Given the description of an element on the screen output the (x, y) to click on. 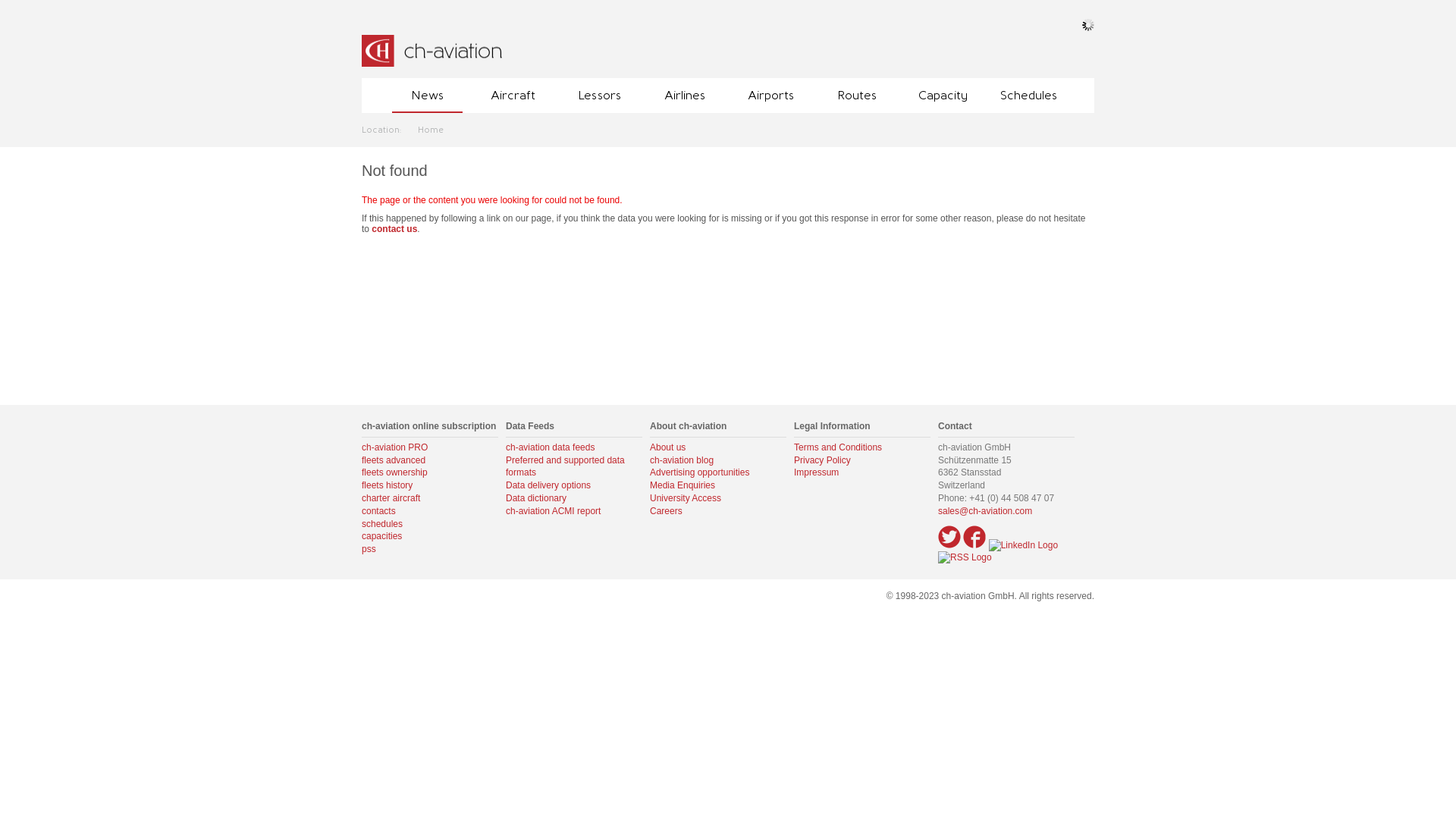
fleets advanced Element type: text (393, 460)
About us Element type: text (667, 447)
contacts Element type: text (378, 510)
Data dictionary Element type: text (535, 497)
schedules Element type: text (381, 523)
Media Enquiries Element type: text (682, 485)
sales@ch-aviation.com Element type: text (985, 510)
Follow us on Twitter Element type: hover (949, 536)
fleets ownership Element type: text (394, 472)
ch-aviation blog Element type: text (681, 460)
Preferred and supported data formats Element type: text (564, 466)
University Access Element type: text (685, 497)
Home Element type: text (430, 129)
contact us Element type: text (394, 228)
News Element type: text (427, 95)
charter aircraft Element type: text (390, 497)
capacities Element type: text (381, 535)
Capacity Element type: text (941, 95)
Aircraft Element type: text (512, 95)
Lessors Element type: text (599, 95)
Schedules Element type: text (1028, 95)
Advertising opportunities Element type: text (699, 472)
Airports Element type: text (770, 95)
Data delivery options Element type: text (547, 485)
Become a fan on Facebook Element type: hover (974, 536)
Privacy Policy Element type: text (821, 460)
ch-aviation PRO Element type: text (394, 447)
fleets history Element type: text (386, 485)
Find us on LinkedIn Element type: hover (1022, 545)
Impressum Element type: text (815, 472)
Routes Element type: text (856, 95)
Terms and Conditions Element type: text (837, 447)
Airlines Element type: text (684, 95)
ch-aviation ACMI report Element type: text (552, 510)
Careers Element type: text (665, 510)
Subscribe via RSS Element type: hover (964, 557)
ch-aviation data feeds Element type: text (549, 447)
pss Element type: text (368, 548)
